Given the description of an element on the screen output the (x, y) to click on. 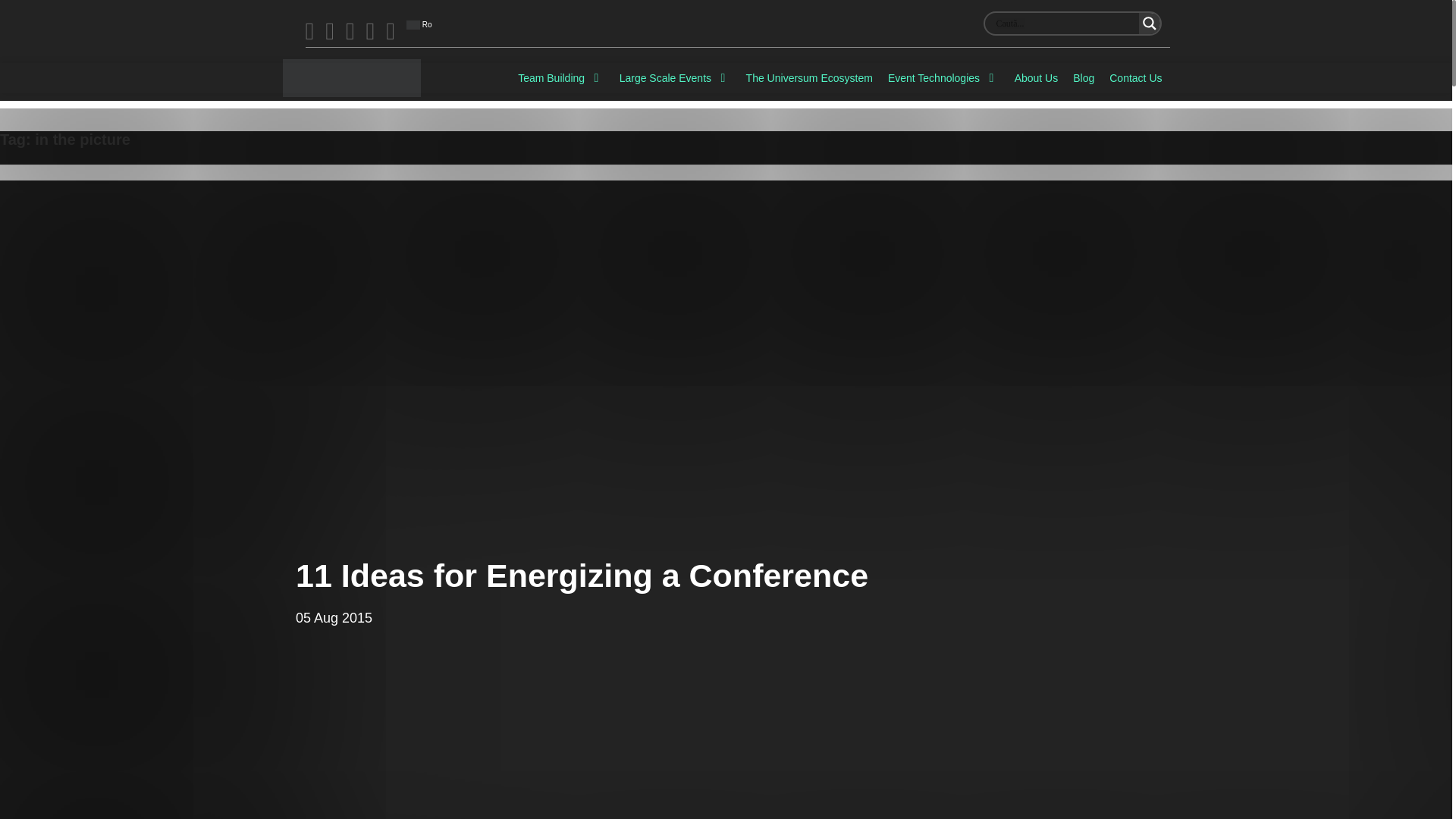
Youtube (370, 30)
Facebook (309, 30)
Ro (419, 24)
Instagram (350, 30)
Linkedin (389, 30)
Twitter (329, 30)
Team Building (561, 76)
